Given the description of an element on the screen output the (x, y) to click on. 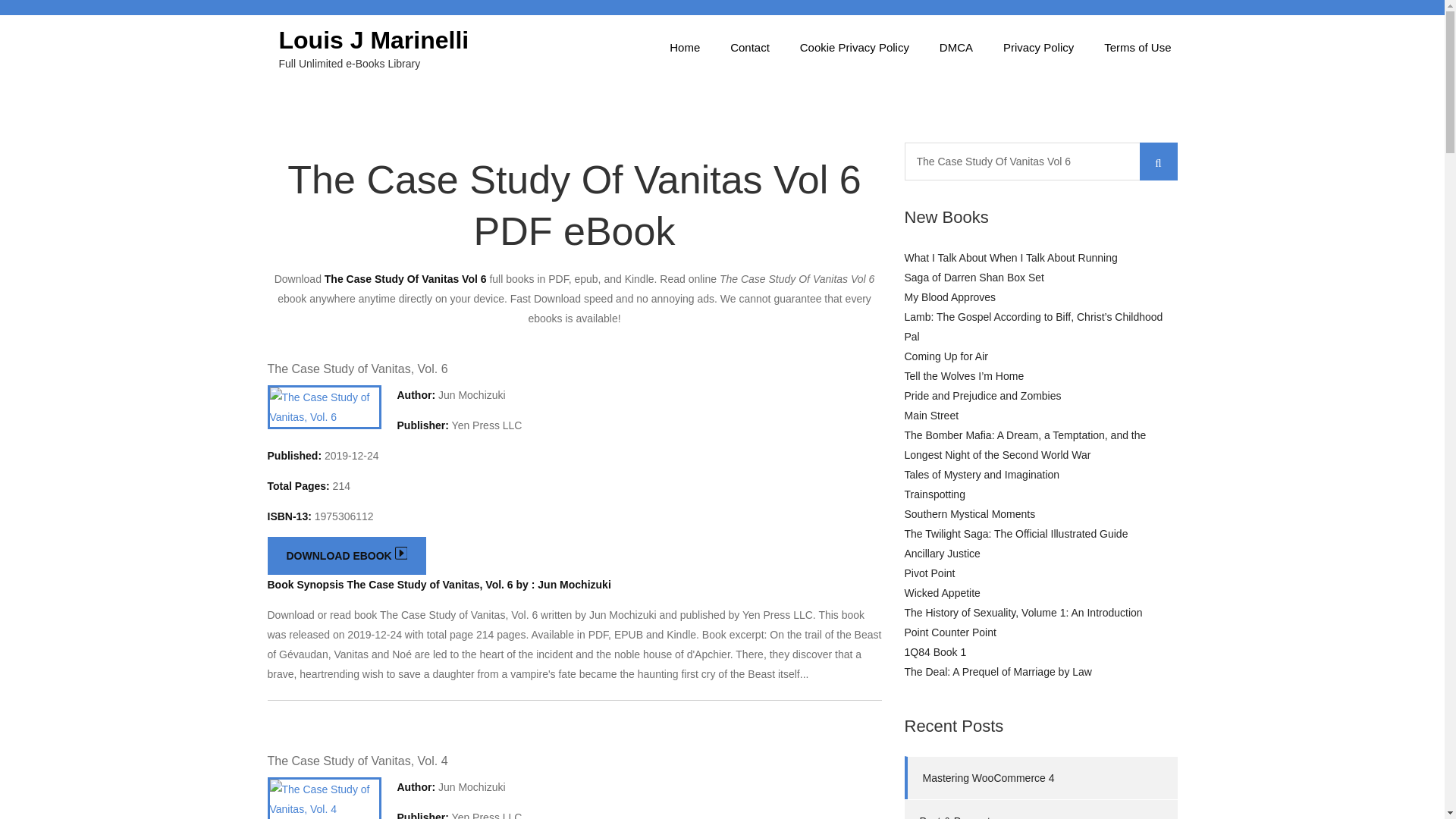
Home (684, 47)
Search for: (1040, 161)
The Case Study of Vanitas, Vol. 4 (356, 760)
The Case Study Of Vanitas Vol 6 (1040, 161)
Contact (749, 47)
Terms of Use (1137, 47)
Privacy Policy (1038, 47)
DMCA (956, 47)
Cookie Privacy Policy (854, 47)
The Case Study Of Vanitas Vol 6 (1040, 161)
DOWNLOAD EBOOK (346, 555)
Louis J Marinelli (373, 40)
The Case Study of Vanitas, Vol. 6 (356, 368)
Search (1157, 161)
